Given the description of an element on the screen output the (x, y) to click on. 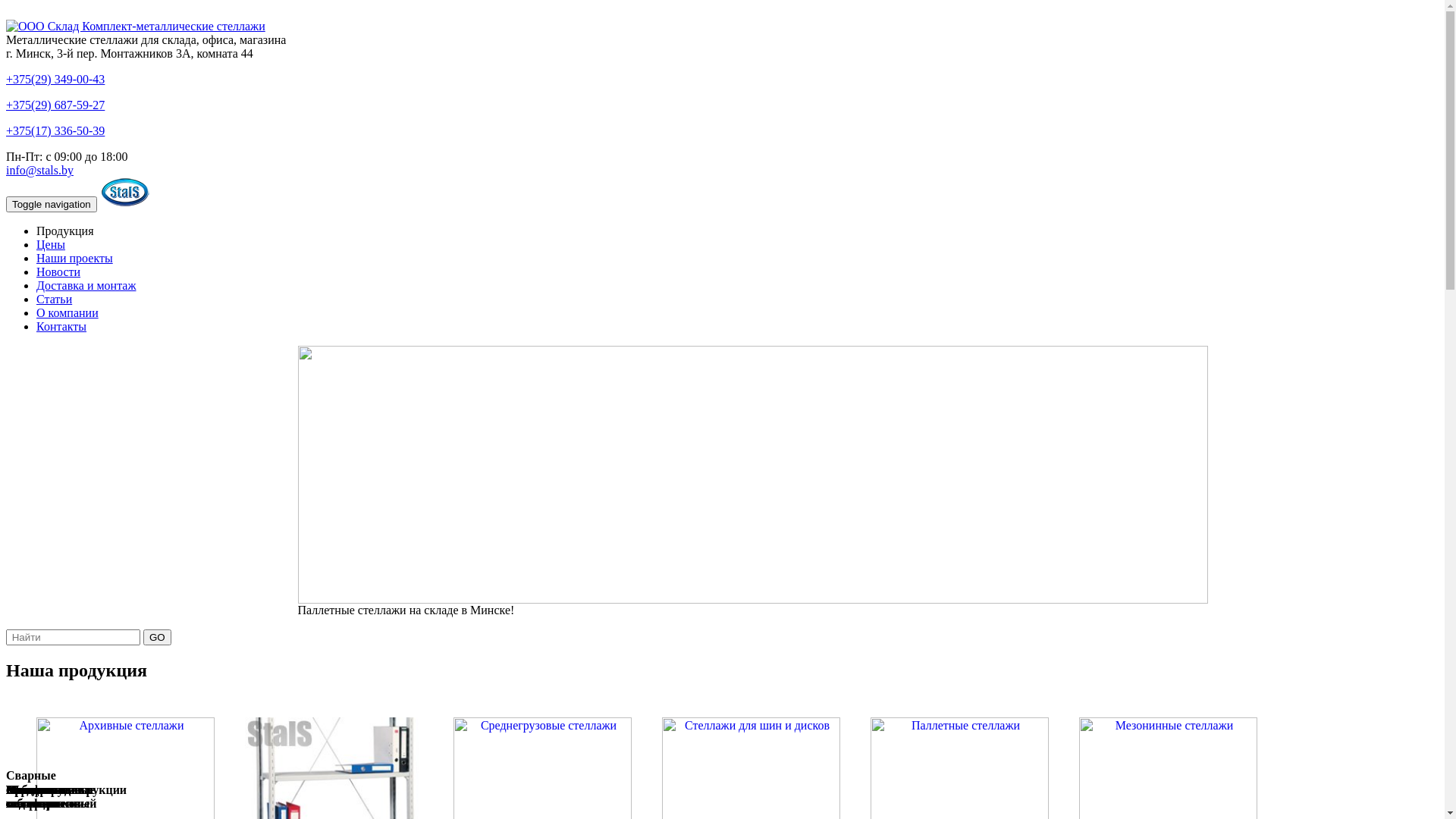
+375(29) 687-59-27 Element type: text (55, 104)
+375(29) 349-00-43 Element type: text (55, 78)
+375(17) 336-50-39 Element type: text (55, 130)
Toggle navigation Element type: text (51, 204)
info@stals.by Element type: text (39, 169)
GO Element type: text (157, 637)
